Given the description of an element on the screen output the (x, y) to click on. 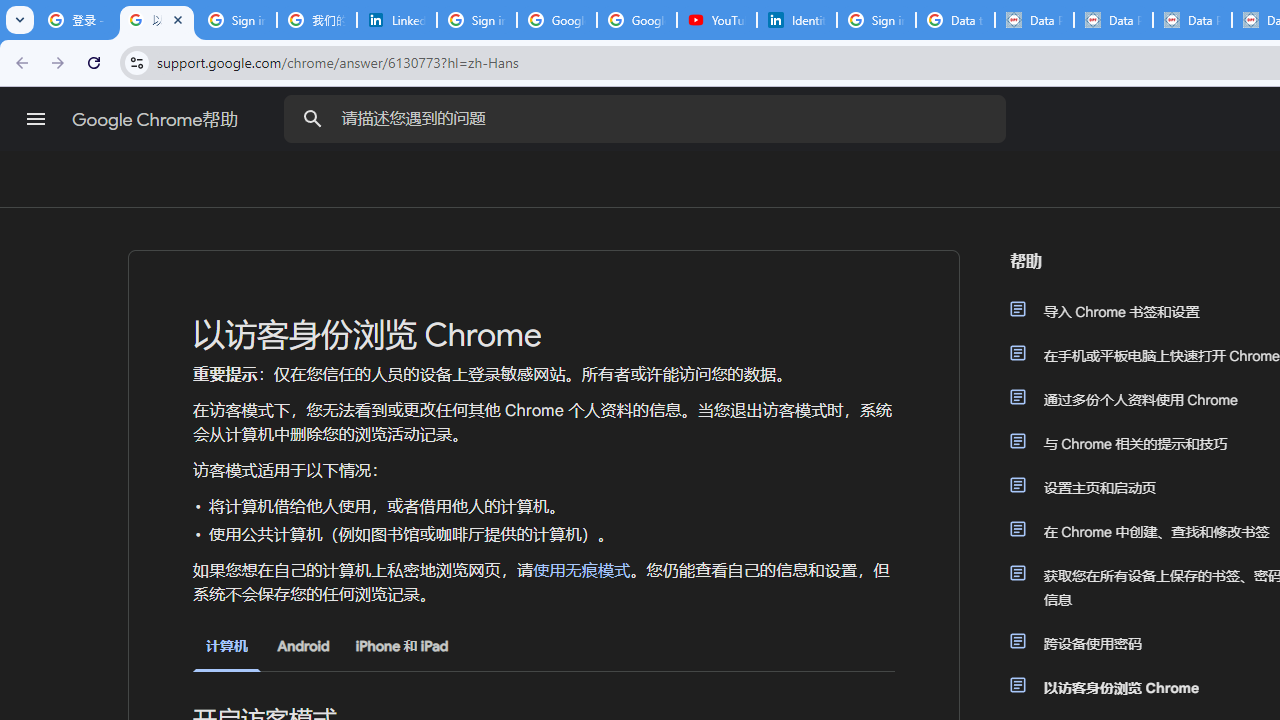
LinkedIn Privacy Policy (396, 20)
